Given the description of an element on the screen output the (x, y) to click on. 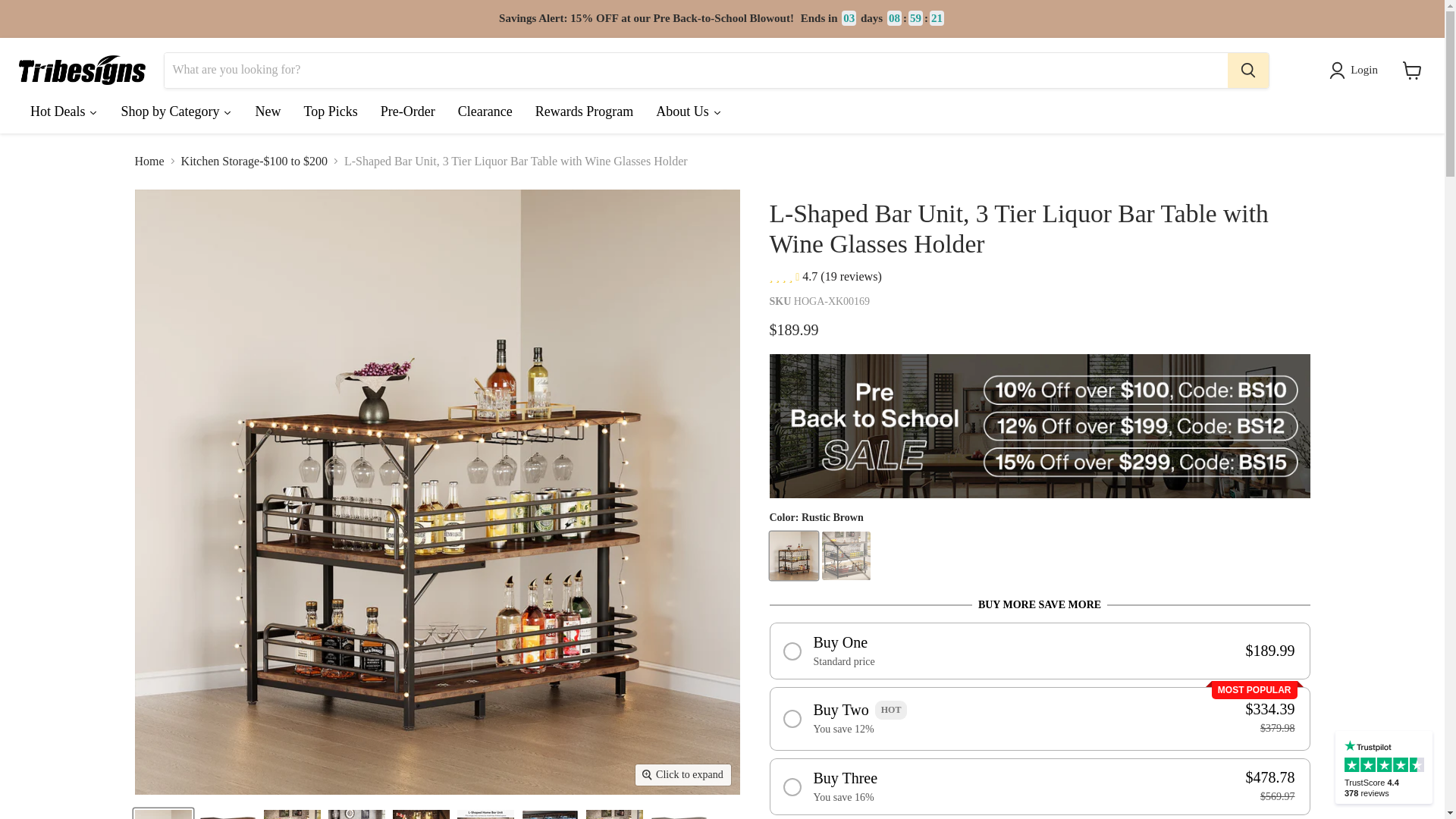
Clearance (485, 114)
Click to expand (682, 774)
Home (149, 161)
Clearance (485, 114)
About Us (689, 114)
Hot Deals (63, 114)
Rewards Program (584, 114)
Shop by Category (176, 114)
Top Picks (330, 114)
New (267, 114)
Pre-Order (407, 114)
About Us (689, 114)
New (267, 114)
Shop by Category (176, 114)
View cart (1411, 69)
